Given the description of an element on the screen output the (x, y) to click on. 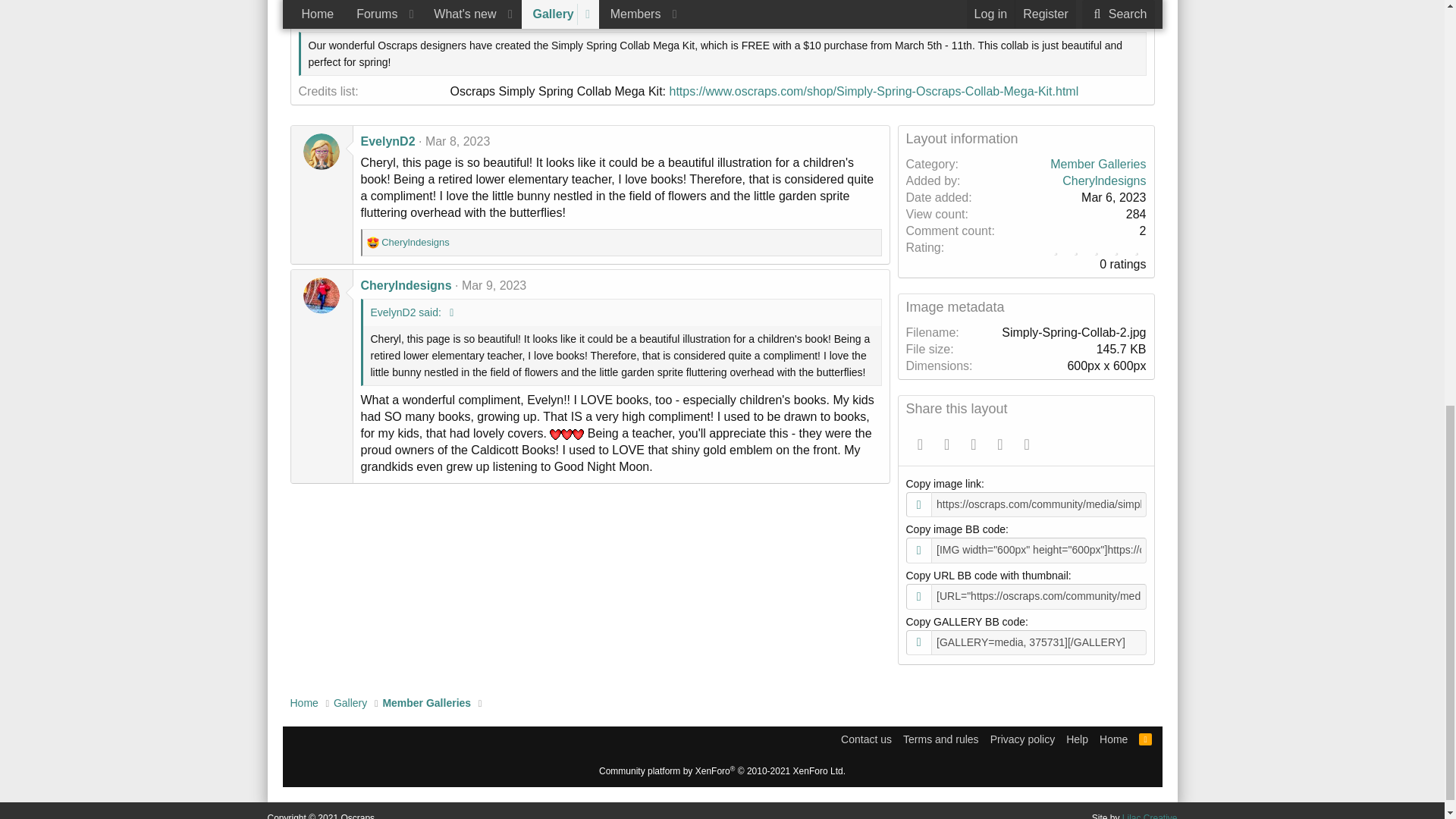
Mar 6, 2023 at 12:10 PM (466, 11)
Mar 6, 2023 at 12:10 PM (1113, 196)
heartpump-red    :heartpumpred: (577, 433)
Mar 9, 2023 at 4:33 PM (493, 285)
Mar 8, 2023 at 11:15 PM (457, 141)
heartpump-red    :heartpumpred: (555, 433)
heartpump-red    :heartpumpred: (566, 433)
RSS (1144, 739)
Love (372, 242)
